Given the description of an element on the screen output the (x, y) to click on. 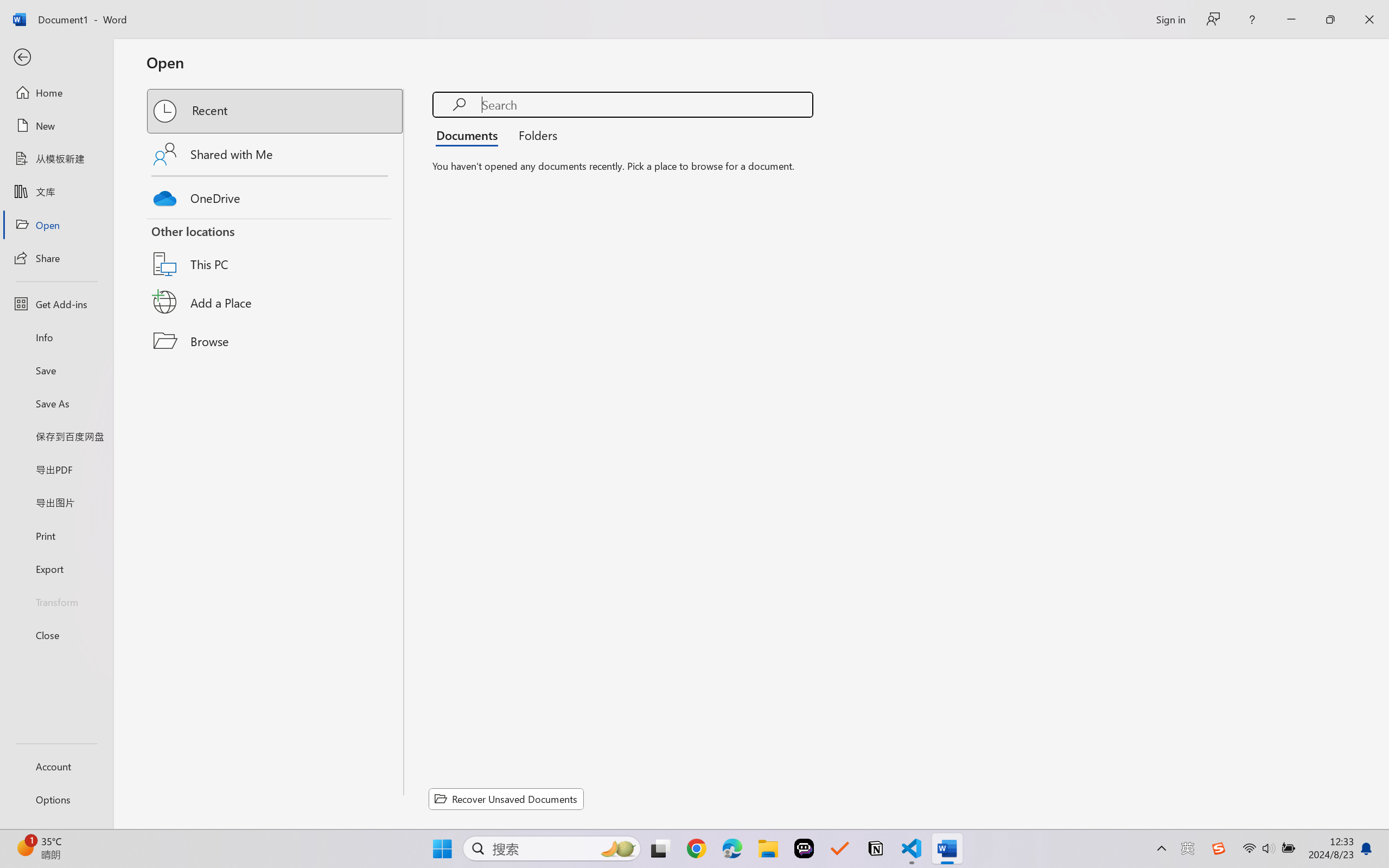
Recent (275, 110)
Recover Unsaved Documents (506, 798)
Shared with Me (275, 153)
Documents (469, 134)
Info (56, 337)
Add a Place (275, 302)
Options (56, 798)
